Given the description of an element on the screen output the (x, y) to click on. 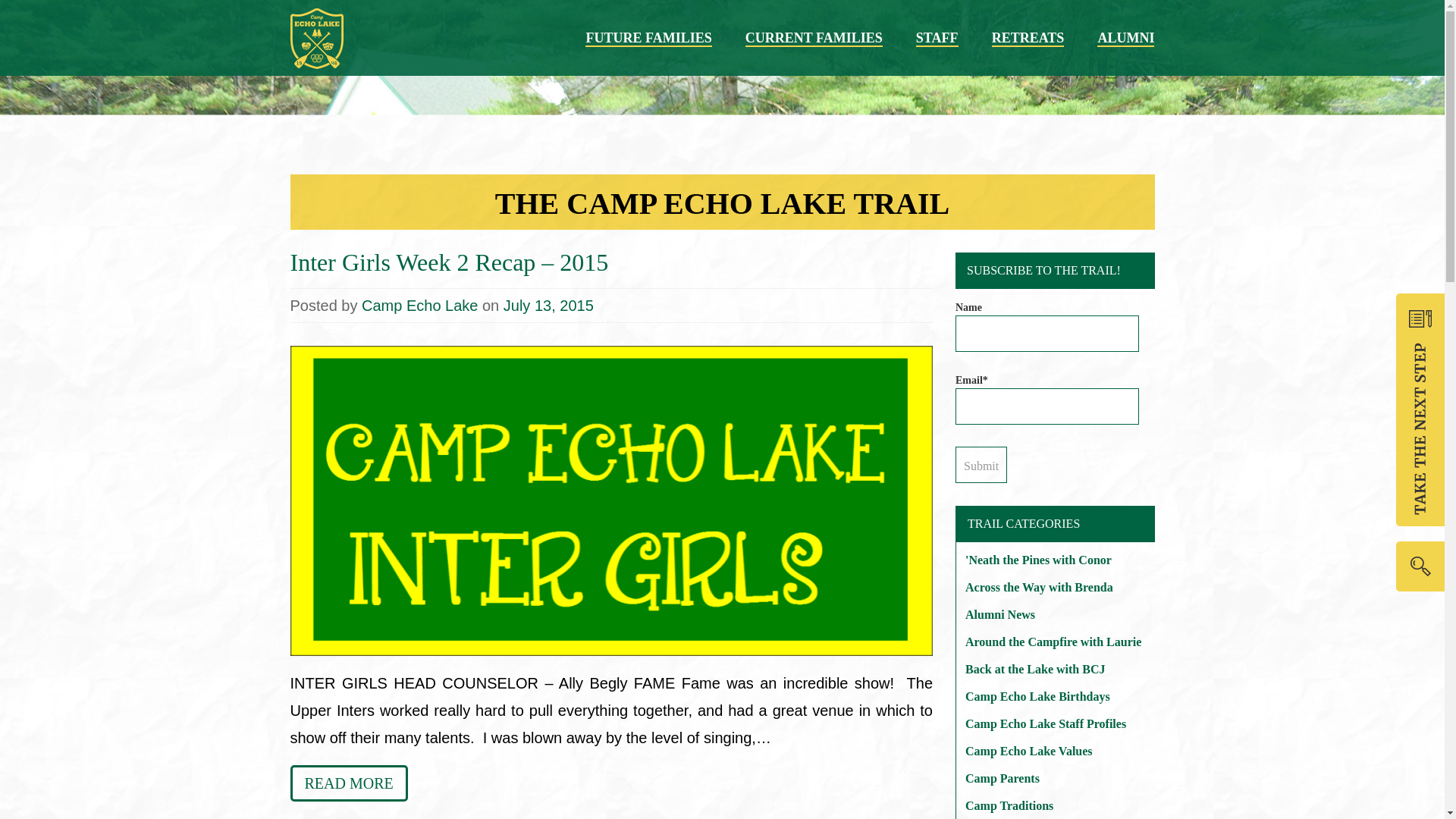
Camp Echo Lake Birthdays (1055, 696)
'Neath the Pines with Conor (1055, 560)
ALUMNI (1125, 38)
Camp Echo Lake (419, 305)
July 13, 2015 (548, 305)
Around the Campfire with Laurie (1055, 642)
Camp Echo Lake Values (1055, 750)
Across the Way with Brenda (1055, 587)
Submit (981, 464)
CURRENT FAMILIES (813, 38)
